Given the description of an element on the screen output the (x, y) to click on. 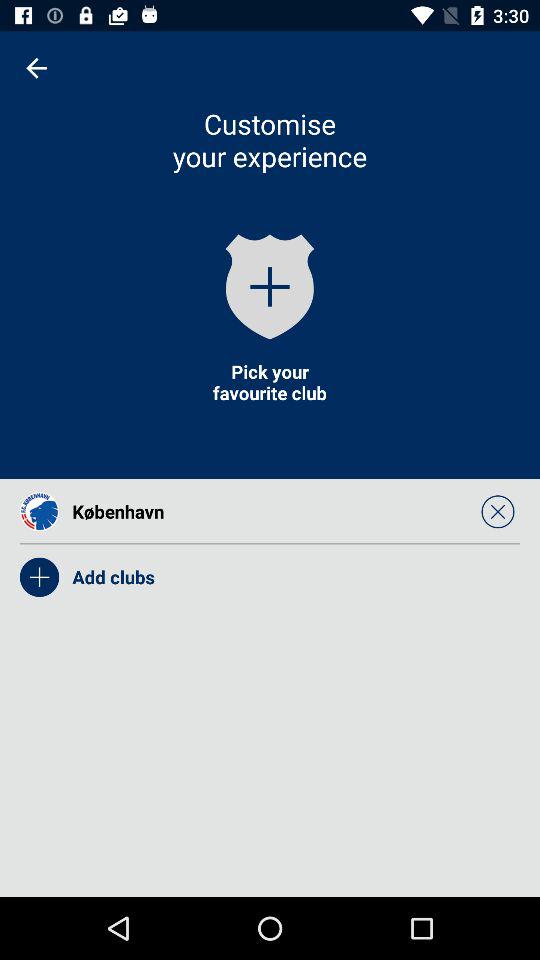
turn off the pick your favourite (269, 382)
